Given the description of an element on the screen output the (x, y) to click on. 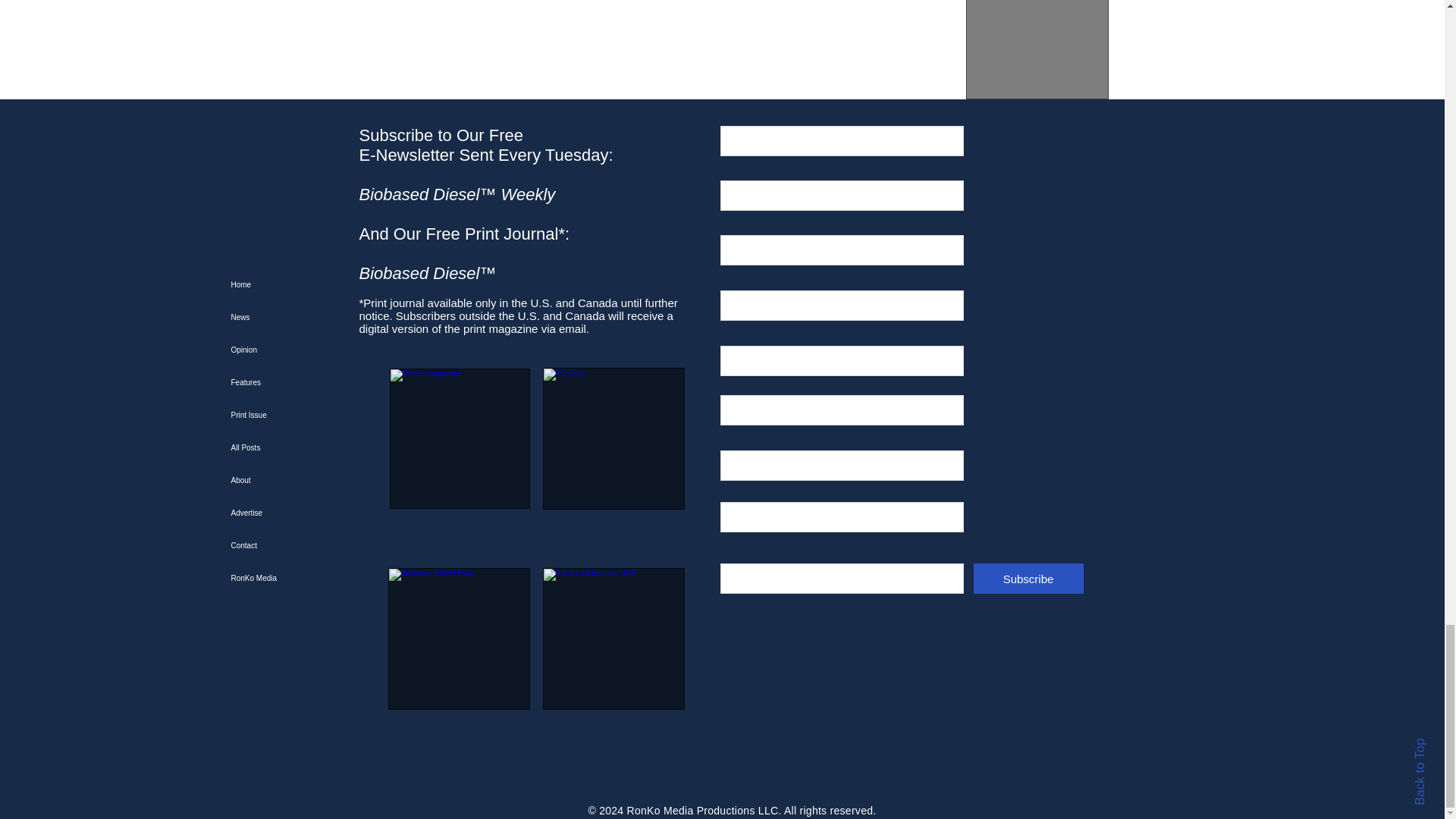
Plasma Blue (405, 49)
